Given the description of an element on the screen output the (x, y) to click on. 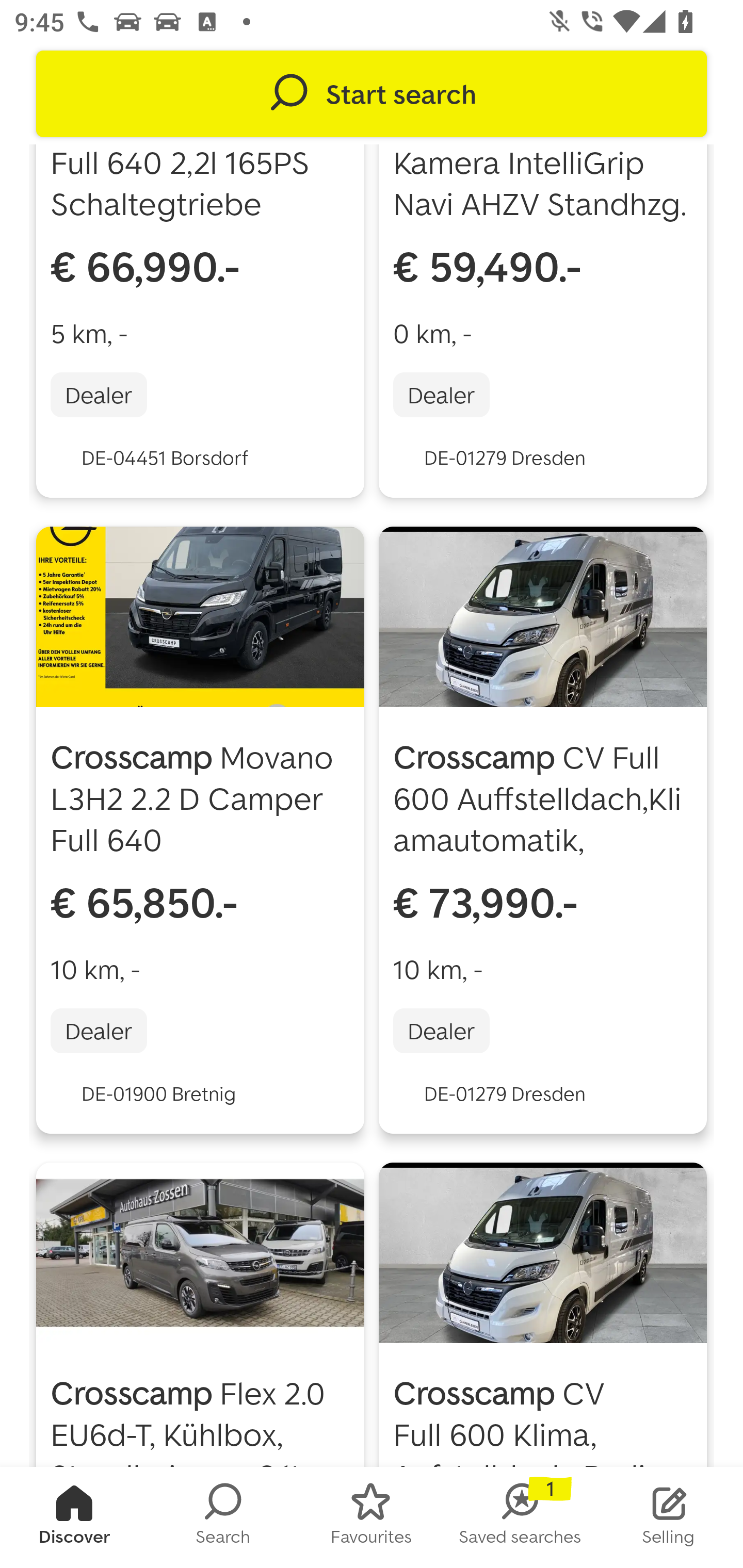
Start search (371, 93)
HOMESCREEN Discover (74, 1517)
SEARCH Search (222, 1517)
FAVORITES Favourites (371, 1517)
SAVED_SEARCHES Saved searches 1 (519, 1517)
STOCK_LIST Selling (668, 1517)
